Given the description of an element on the screen output the (x, y) to click on. 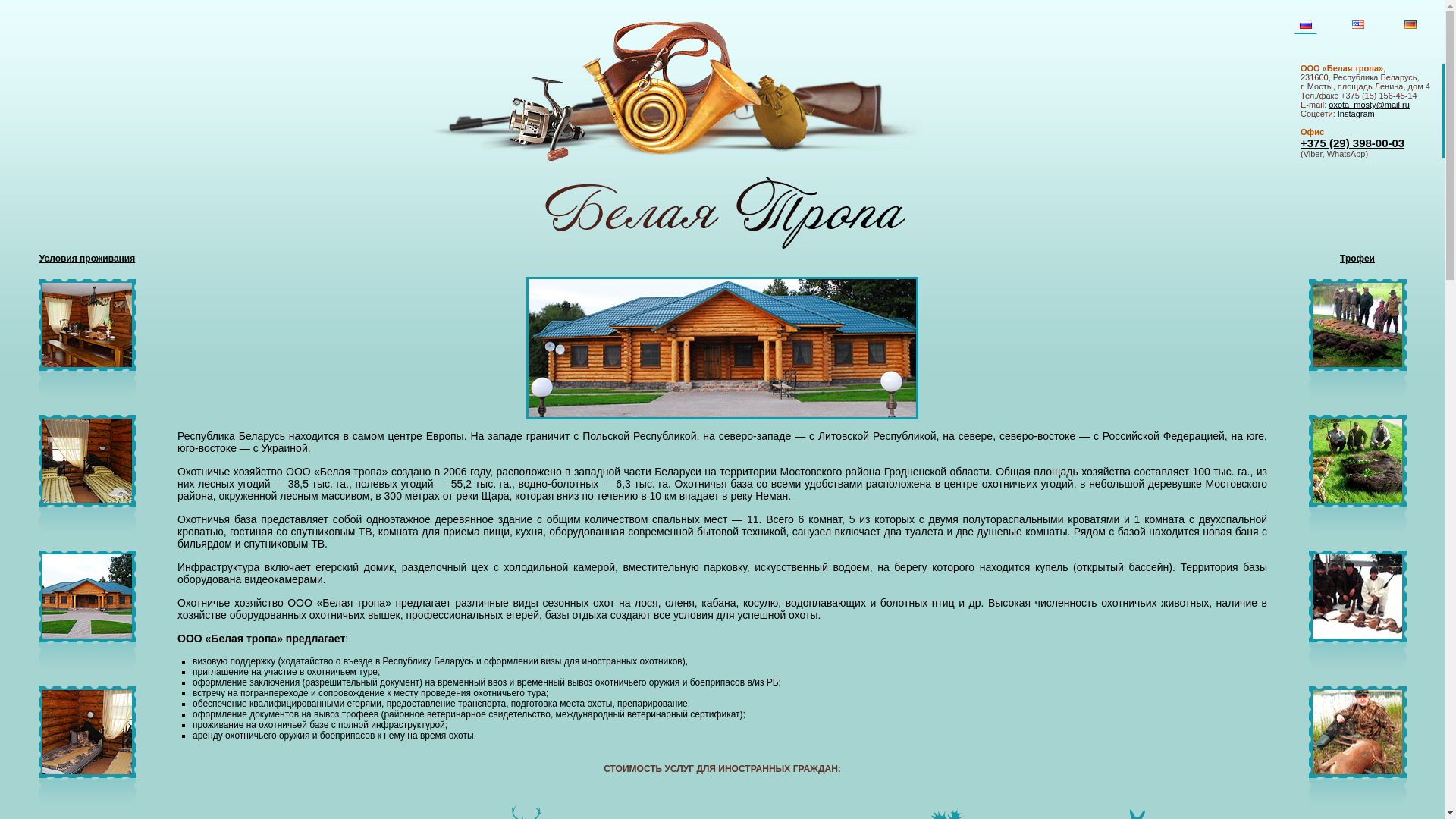
Instagram Element type: text (1355, 113)
oxota_mosty@mail.ru Element type: text (1368, 104)
+375 (29) 398-00-03 Element type: text (1352, 142)
